Given the description of an element on the screen output the (x, y) to click on. 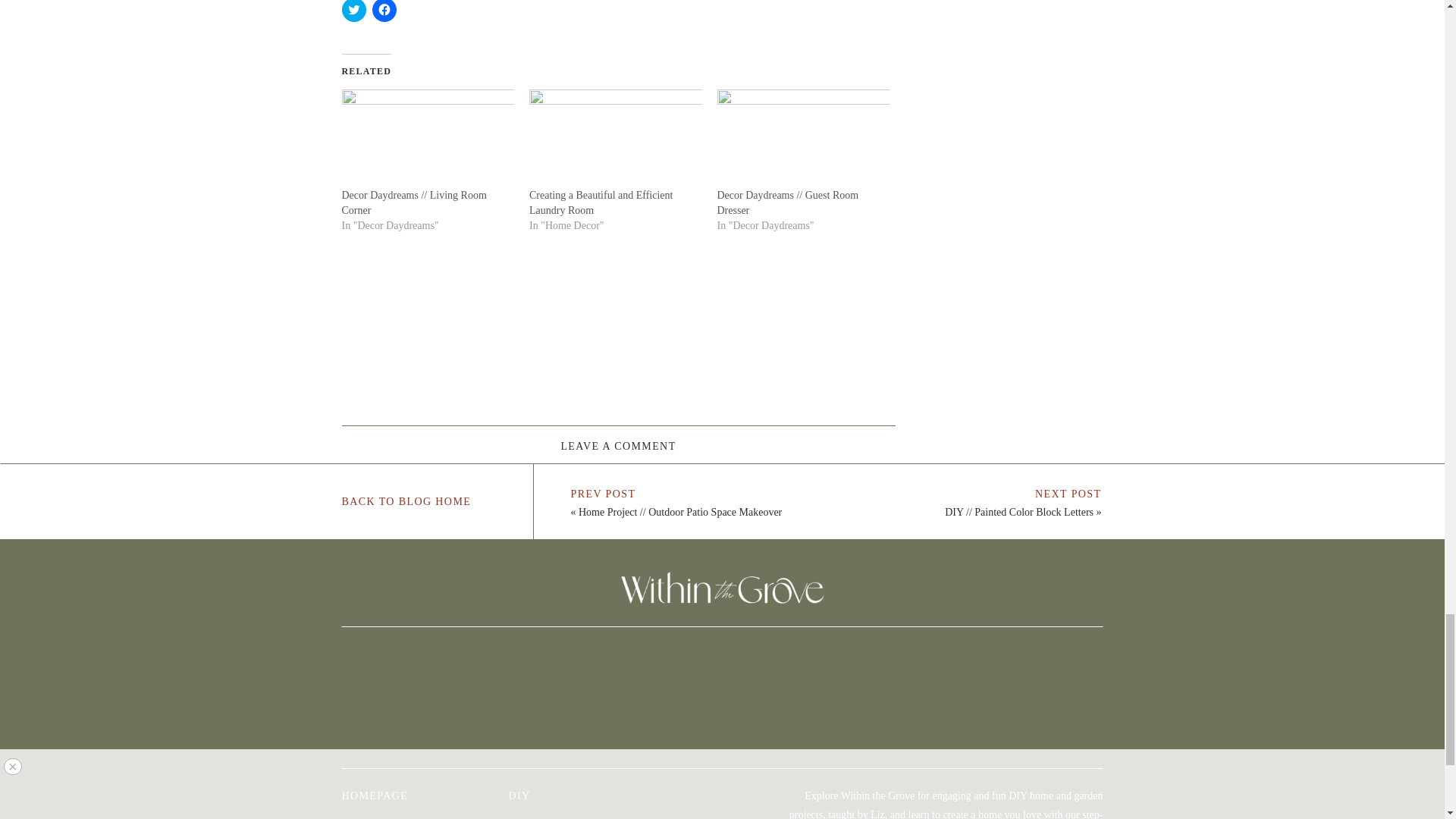
Creating a Beautiful and Efficient Laundry Room (615, 138)
Click to share on Twitter (352, 11)
Click to share on Facebook (383, 11)
Creating a Beautiful and Efficient Laundry Room (600, 202)
5D885D38-87FE-4411-B1D7-D99D2C51D777 (400, 697)
